Given the description of an element on the screen output the (x, y) to click on. 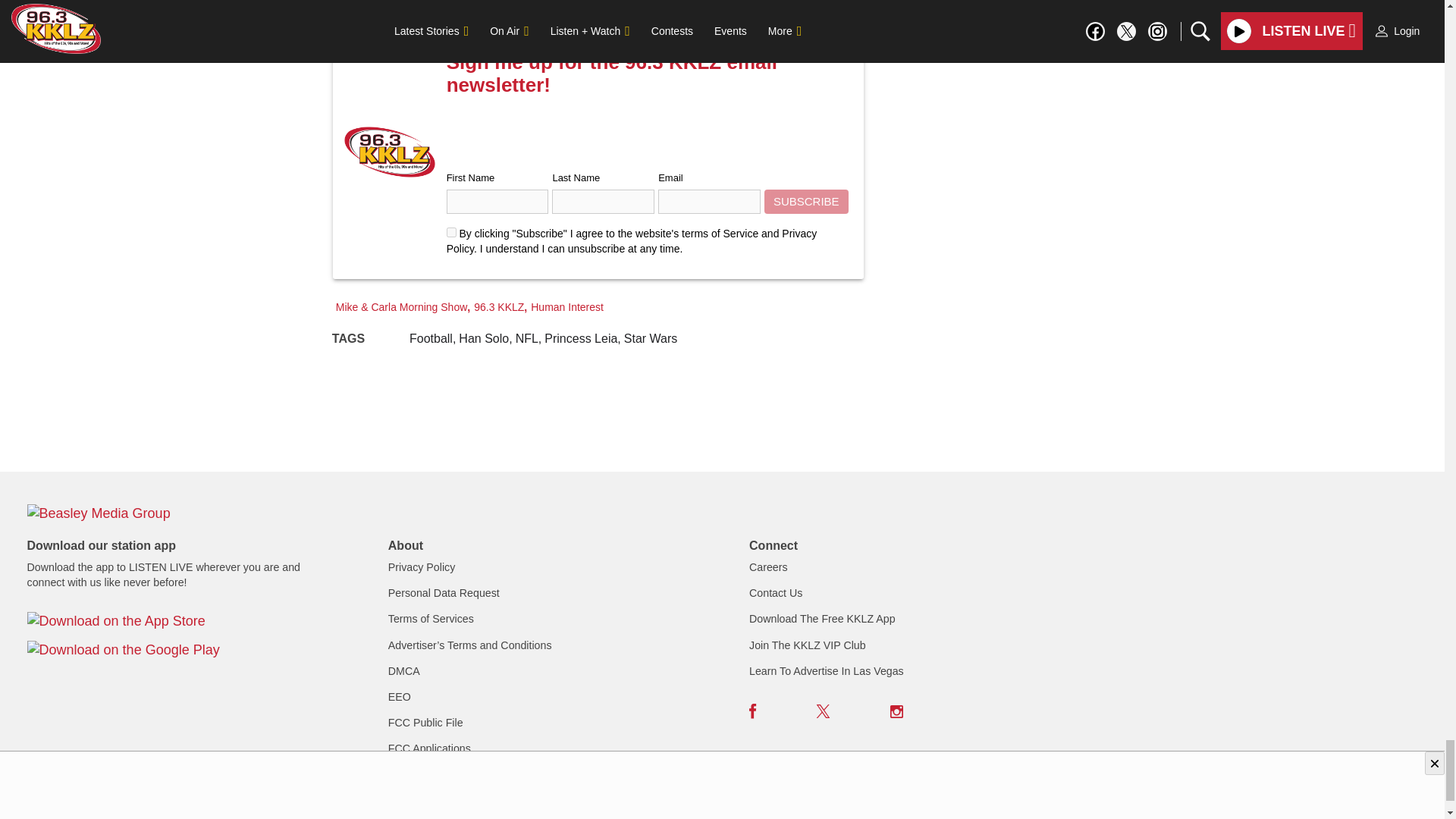
on (451, 232)
Instagram (895, 711)
Twitter (823, 711)
